Given the description of an element on the screen output the (x, y) to click on. 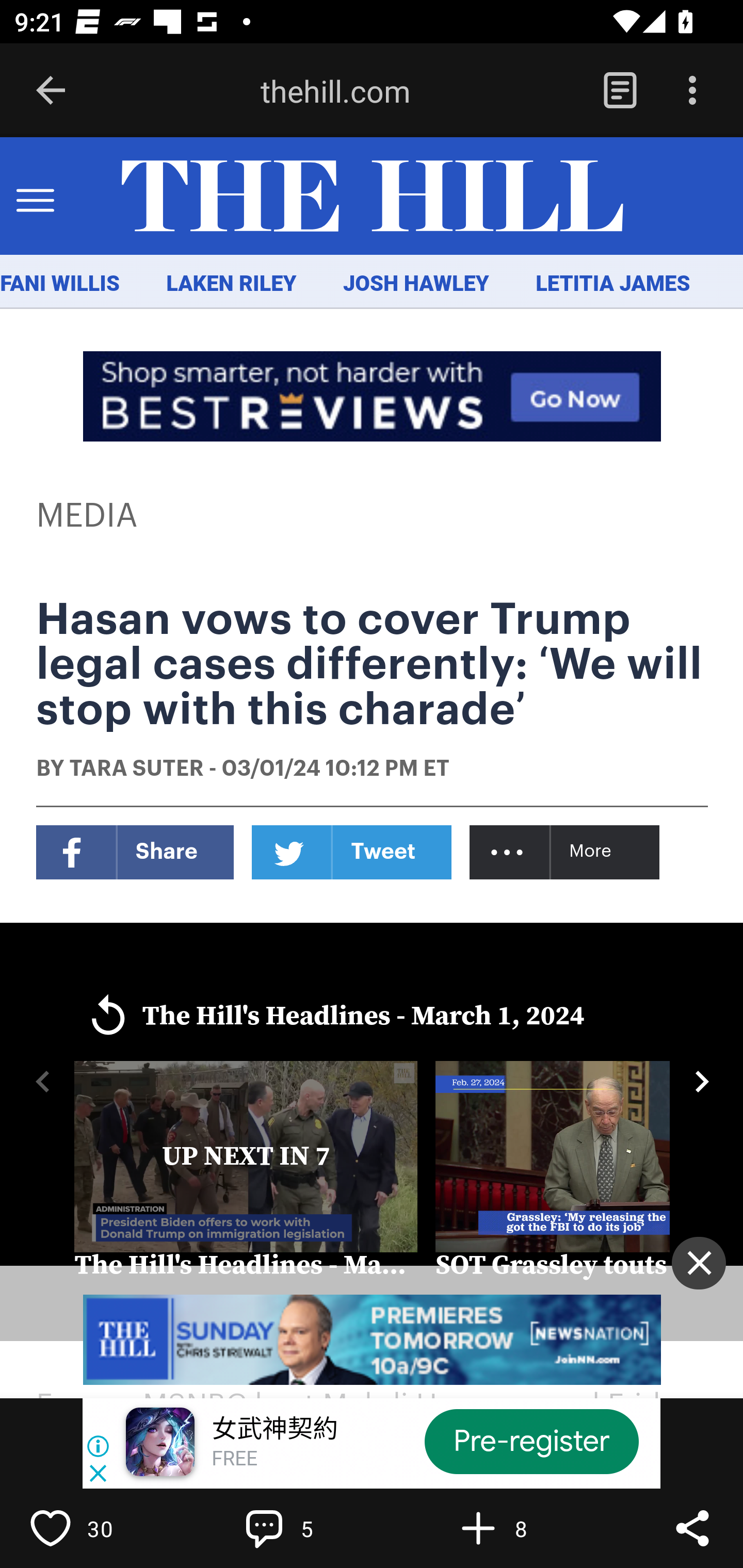
Back (50, 90)
Reader View (619, 90)
Options (692, 90)
Toggle Menu (34, 196)
TheHill.com (371, 196)
FANI WILLIS (60, 284)
LAKEN RILEY (231, 284)
JOSH HAWLEY (414, 284)
LETITIA JAMES (612, 284)
MEDIA (87, 516)
TARA SUTER (135, 769)
Facebook Share Facebook Share (135, 852)
Twitter Tweet Twitter Tweet (352, 852)
... More (565, 852)
✕ (699, 1262)
channel-finder (372, 1339)
Pre-register (530, 1441)
女武神契約 (274, 1429)
FREE (234, 1459)
Like 30 (93, 1528)
Write a comment… 5 (307, 1528)
Flip into Magazine 8 (521, 1528)
Share (692, 1528)
